Given the description of an element on the screen output the (x, y) to click on. 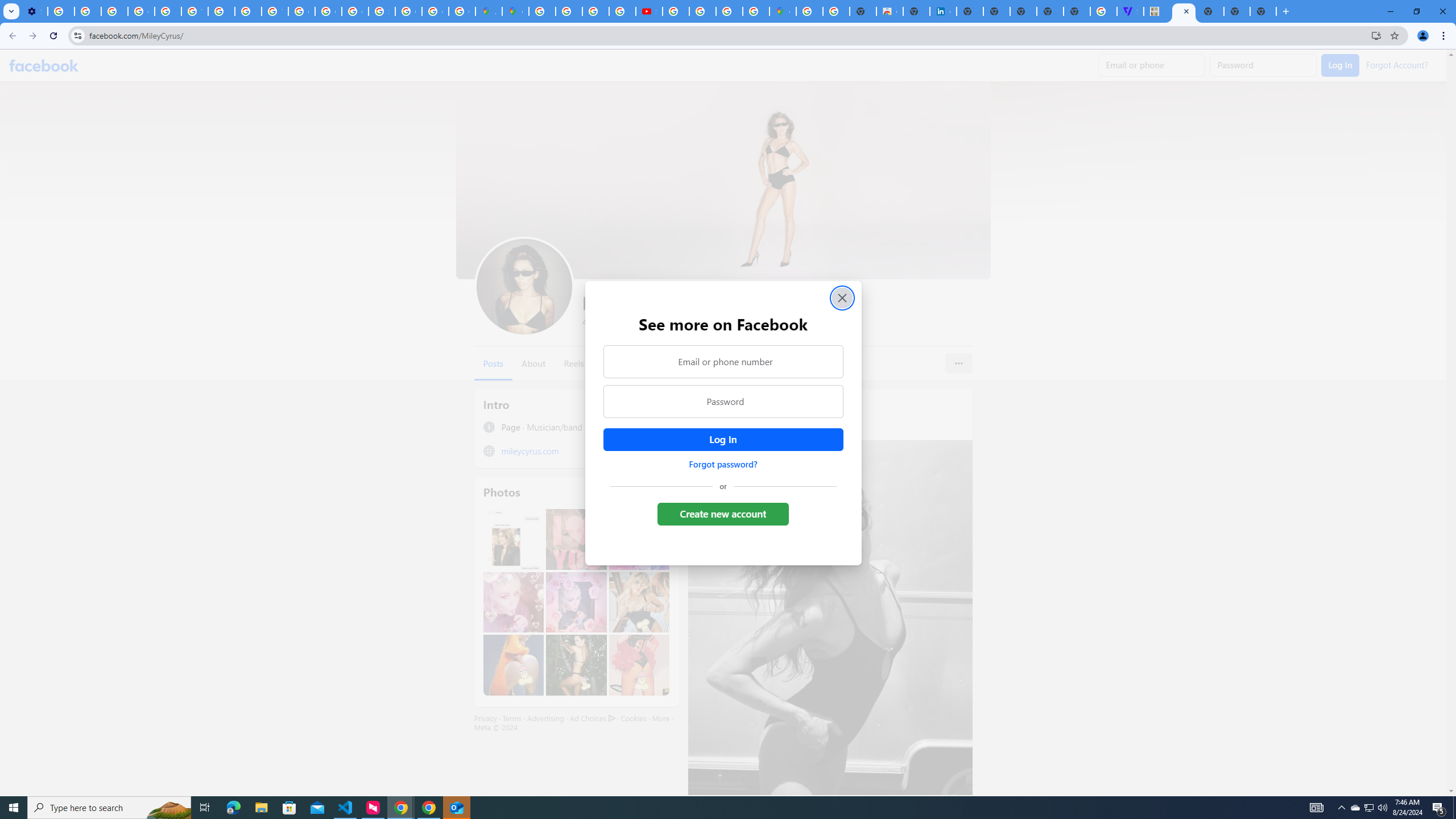
YouTube (194, 11)
Forgot password? (722, 463)
Google Maps (515, 11)
Blogger Policies and Guidelines - Transparency Center (542, 11)
Email or phone number (722, 361)
Privacy Help Center - Policies Help (595, 11)
Accessible login button (722, 439)
Forgot Account? (1396, 64)
How Chrome protects your passwords - Google Chrome Help (676, 11)
Facebook (44, 65)
